Given the description of an element on the screen output the (x, y) to click on. 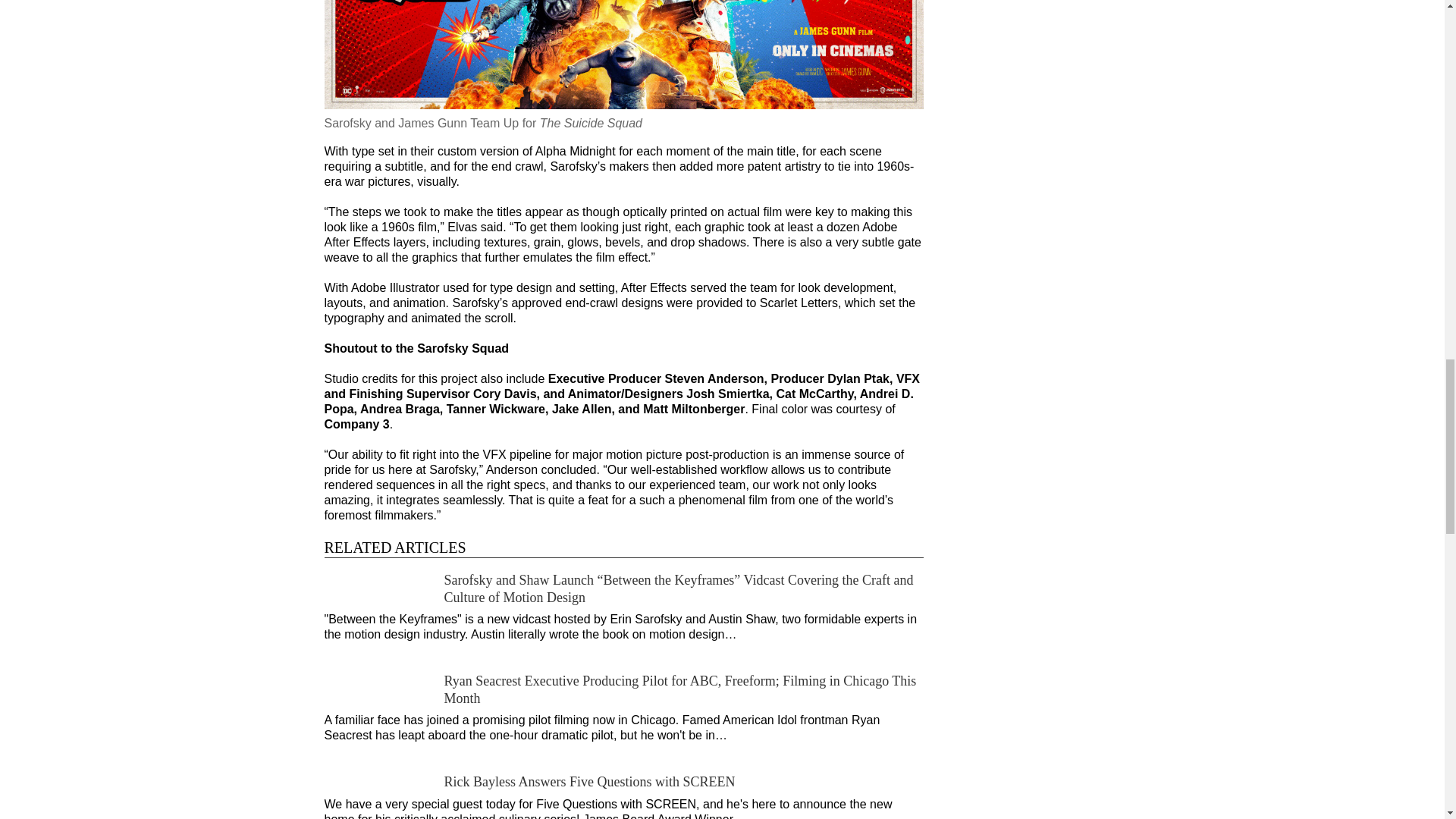
Rick Bayless Answers Five Questions with SCREEN (589, 781)
